Given the description of an element on the screen output the (x, y) to click on. 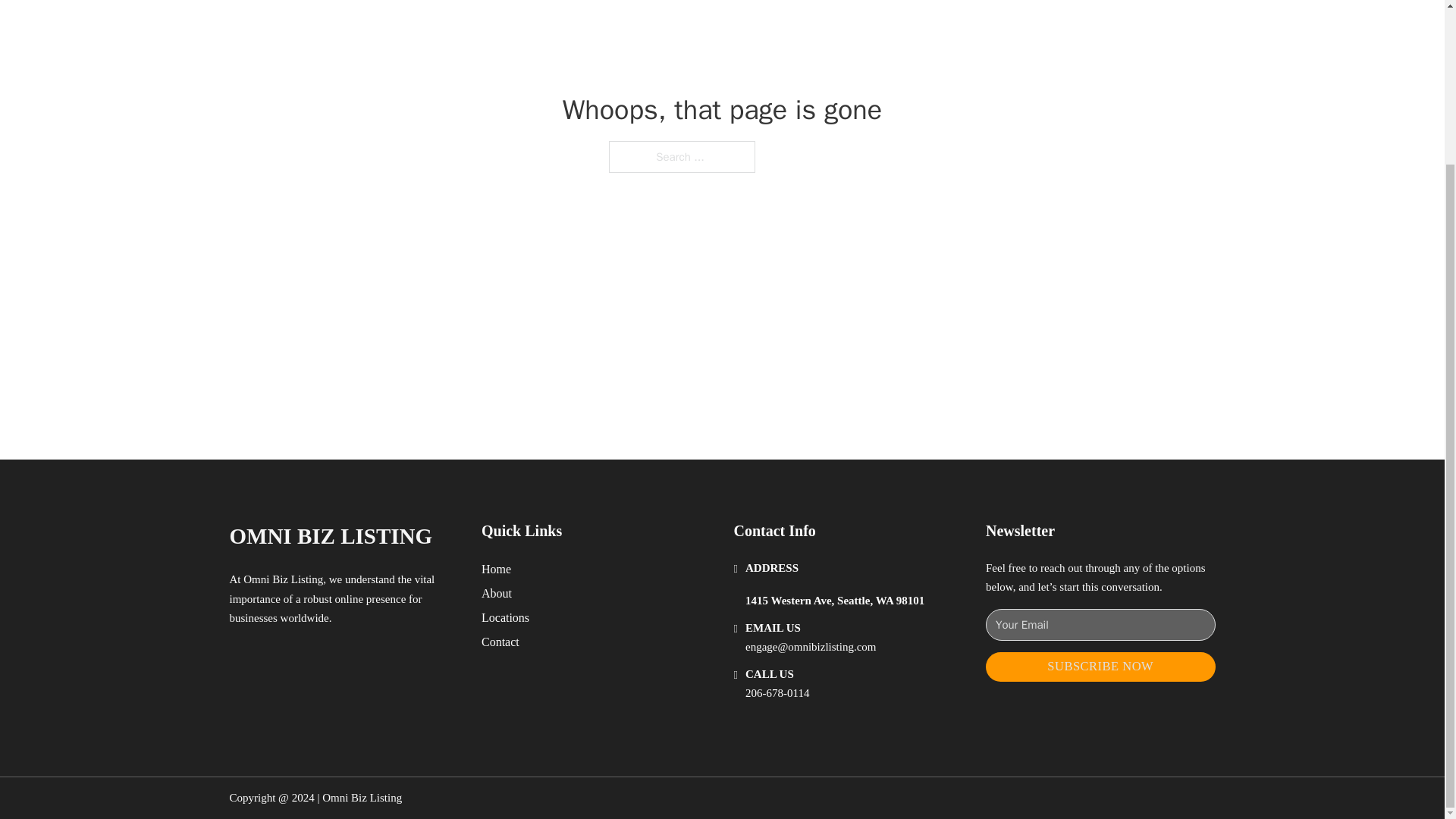
About (496, 593)
OMNI BIZ LISTING (330, 536)
206-678-0114 (777, 693)
Contact (500, 641)
Locations (505, 617)
SUBSCRIBE NOW (1100, 666)
Home (496, 568)
